Given the description of an element on the screen output the (x, y) to click on. 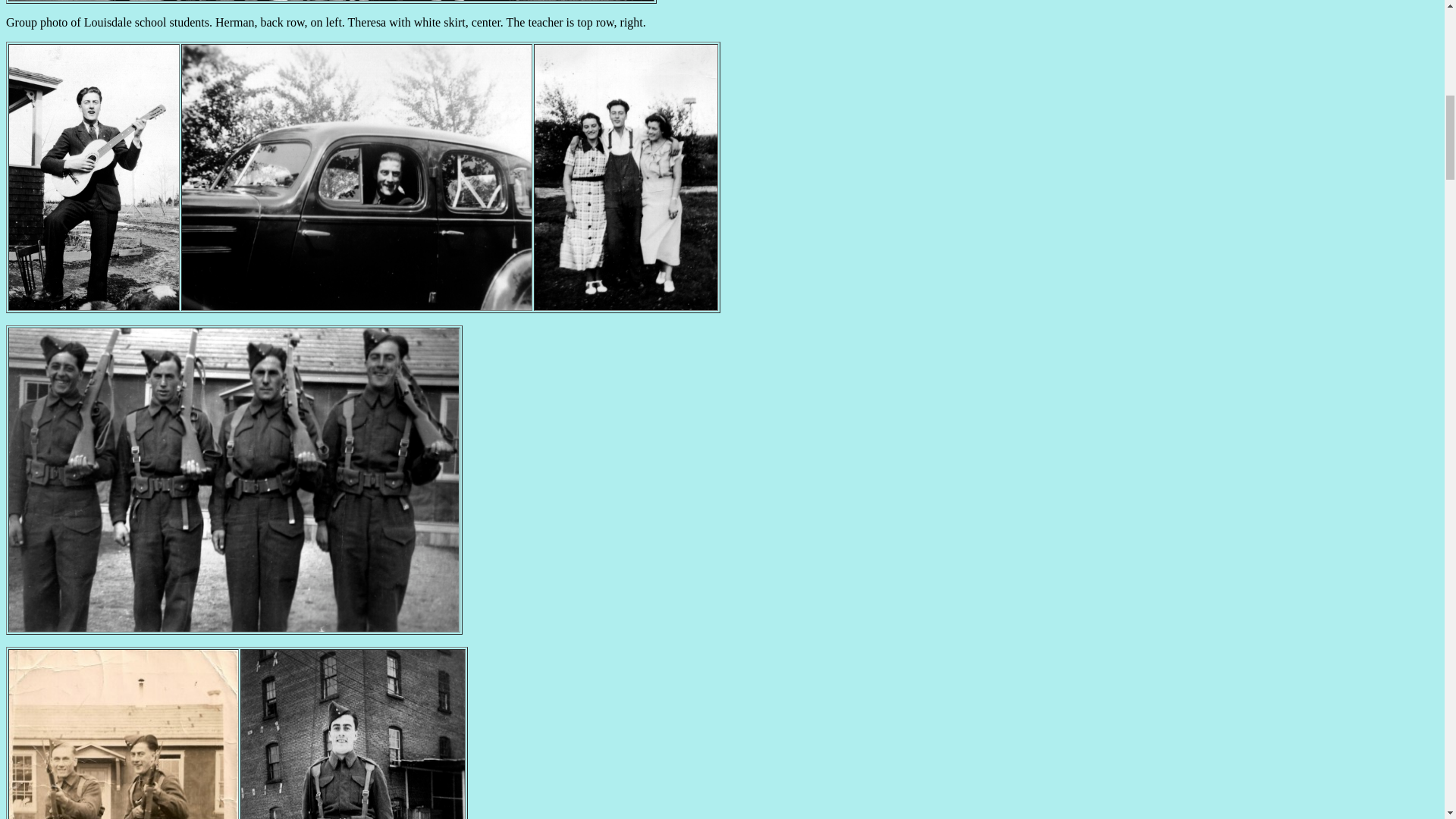
Herman Burke. (357, 305)
Herman with Jean and other. (625, 305)
Herman Burke. (233, 626)
Herman Burke. (93, 305)
